Given the description of an element on the screen output the (x, y) to click on. 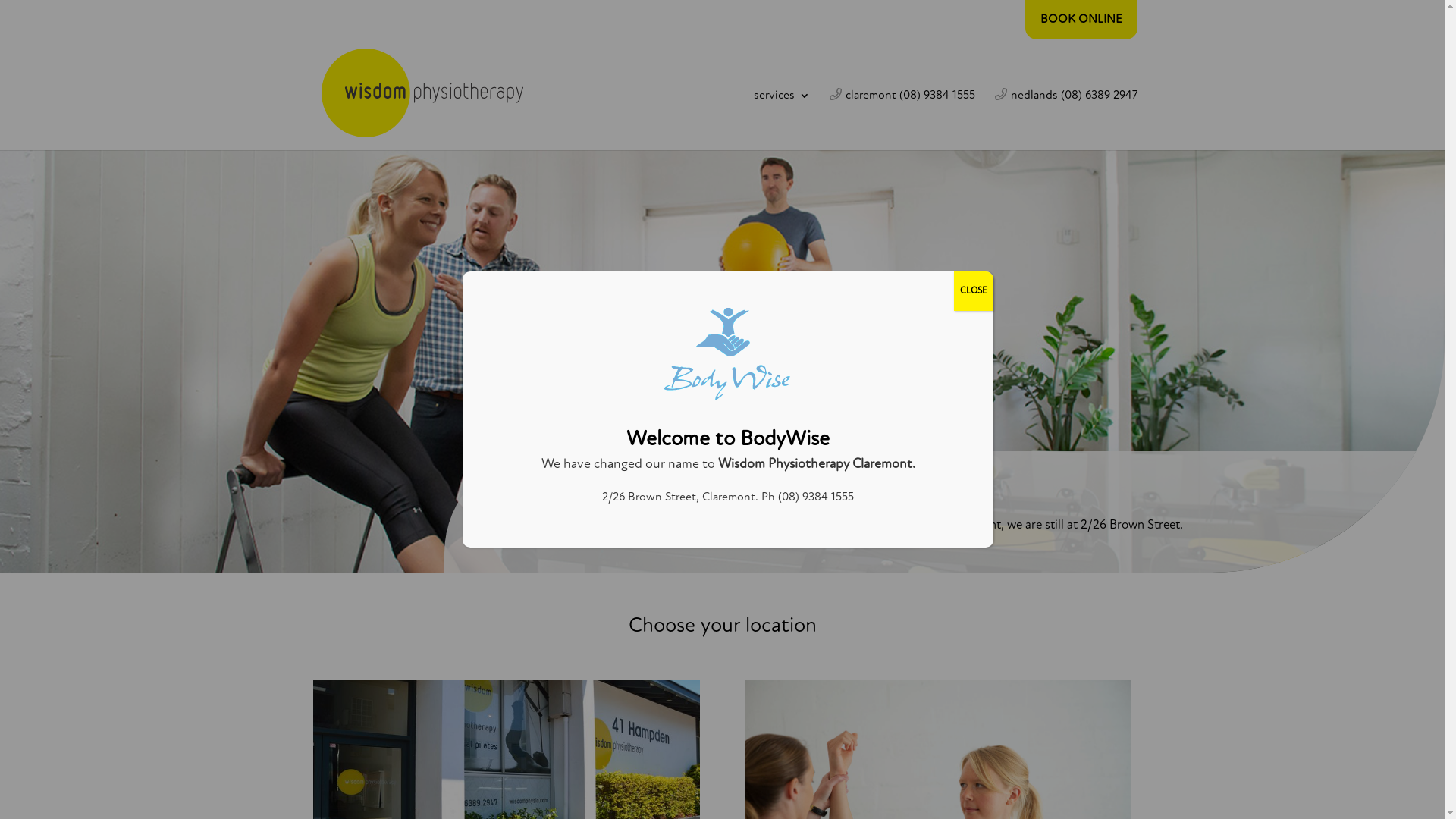
BOOK ONLINE Element type: text (1081, 19)
services Element type: text (781, 120)
claremont (08) 9384 1555 Element type: text (902, 119)
nedlands (08) 6389 2947 Element type: text (1065, 119)
CLOSE Element type: text (973, 290)
